Given the description of an element on the screen output the (x, y) to click on. 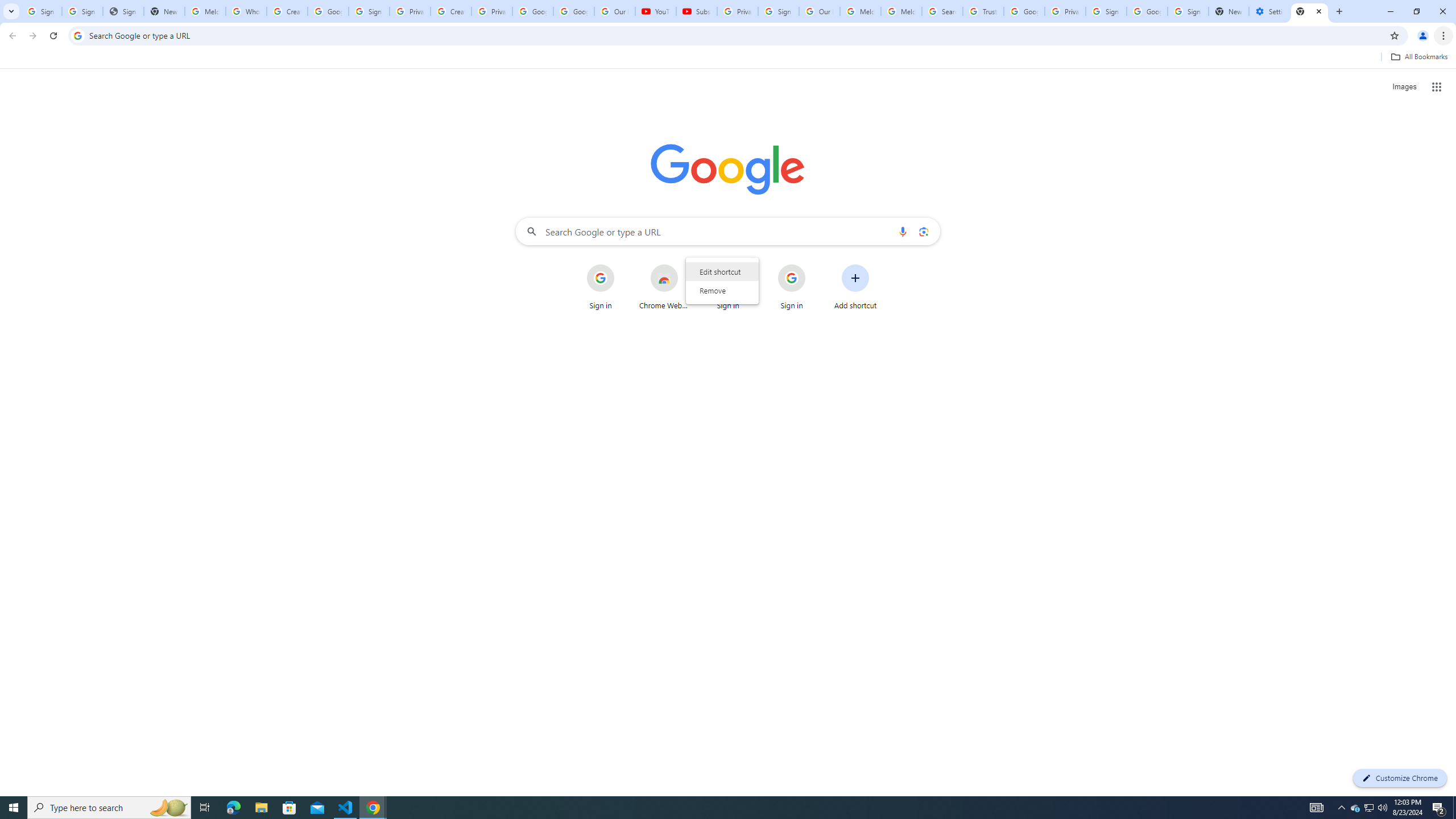
Sign in - Google Accounts (777, 11)
Search our Doodle Library Collection - Google Doodles (942, 11)
Subscriptions - YouTube (696, 11)
